Given the description of an element on the screen output the (x, y) to click on. 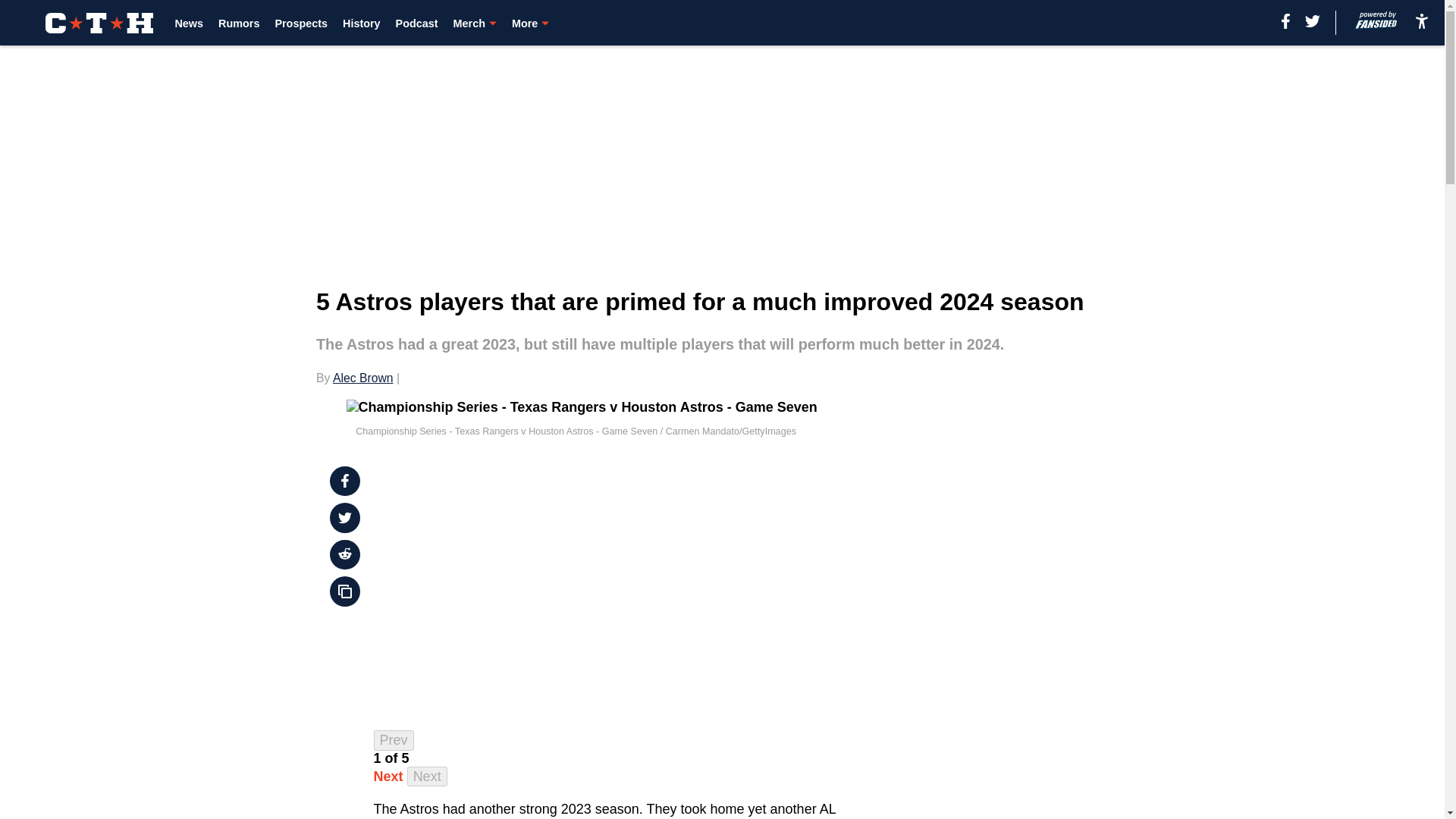
News (188, 23)
Next (426, 776)
Prospects (301, 23)
History (361, 23)
Podcast (417, 23)
Prev (393, 740)
Rumors (238, 23)
Alec Brown (363, 377)
Next (388, 776)
